Given the description of an element on the screen output the (x, y) to click on. 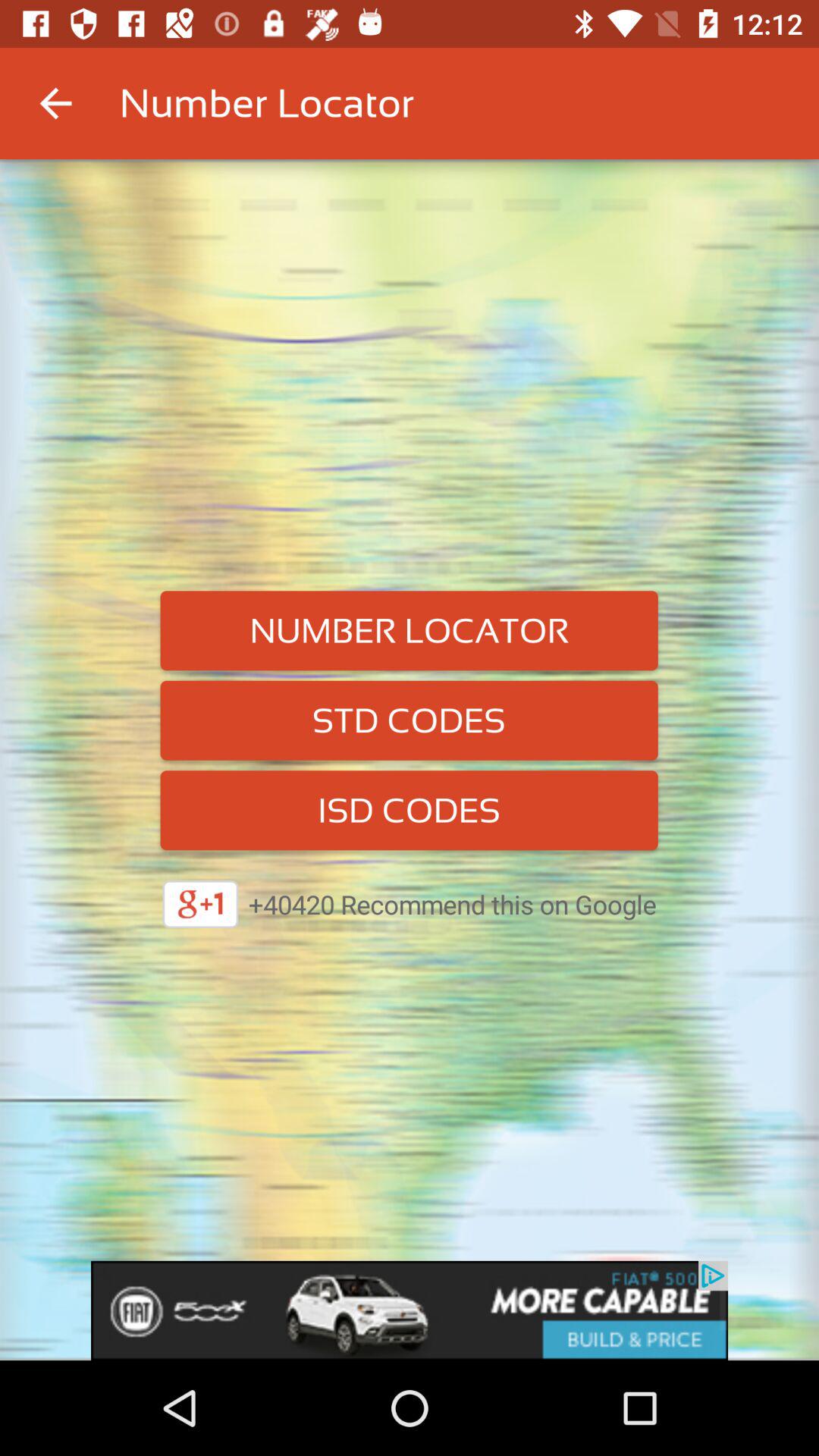
open car advertisement (409, 1310)
